Given the description of an element on the screen output the (x, y) to click on. 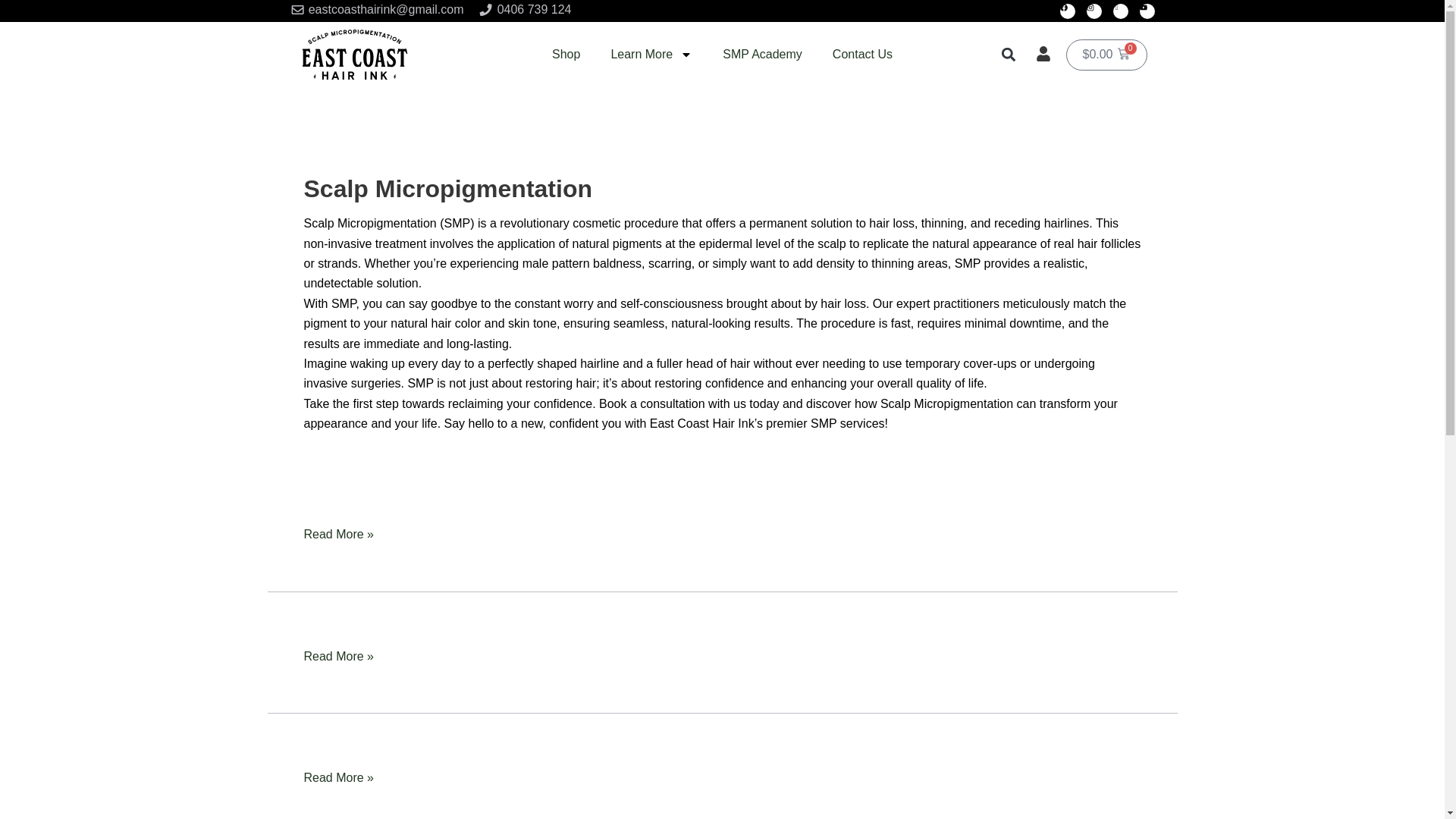
Facebook (1067, 11)
Learn More (651, 54)
0406 739 124 (524, 11)
Shop (566, 54)
Youtube (1146, 11)
Contact Us (861, 54)
Instagram (1093, 11)
SMP Academy (761, 54)
Icon-tiktok (1120, 11)
